Given the description of an element on the screen output the (x, y) to click on. 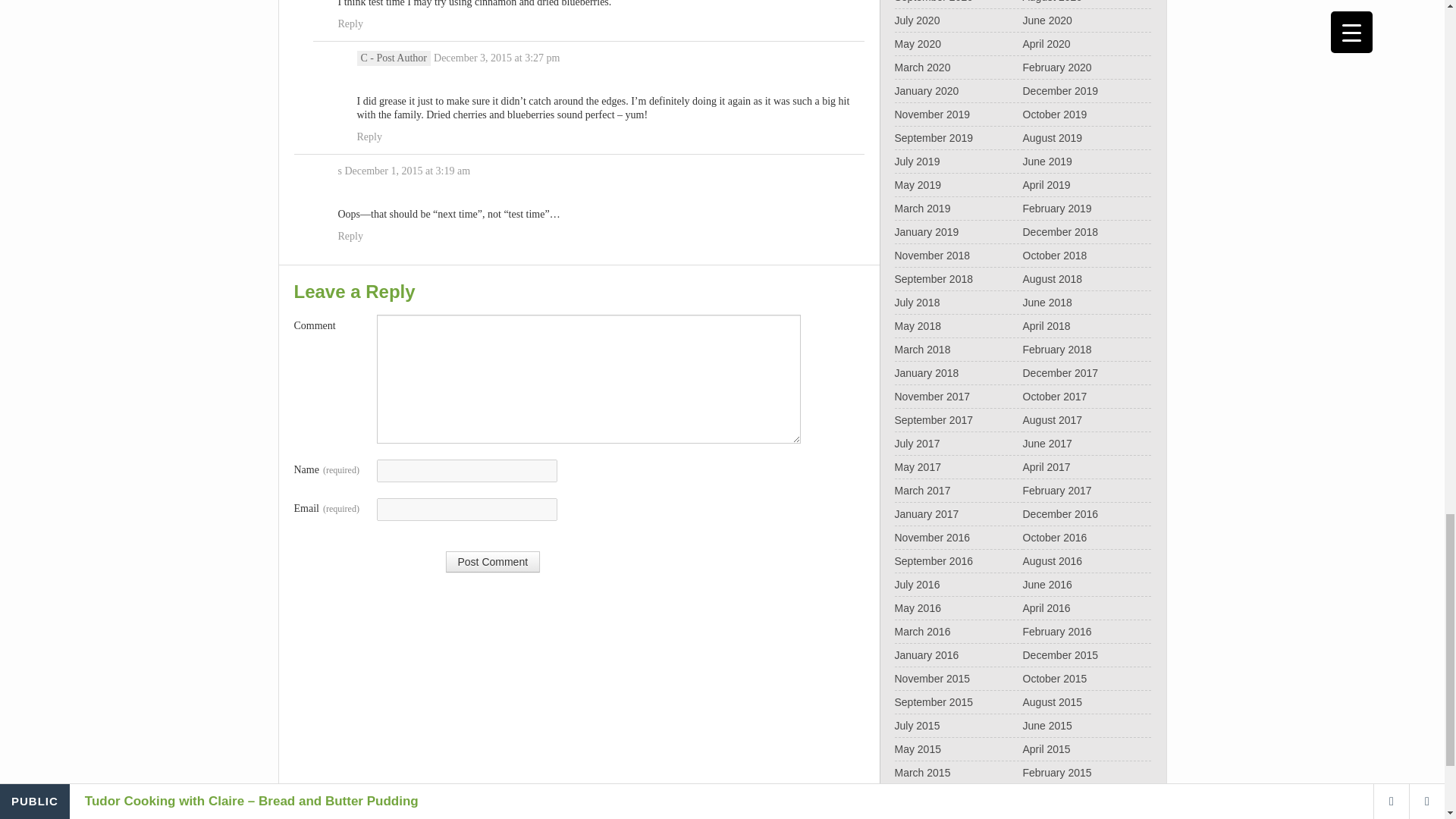
Reply (368, 136)
Post Comment (492, 561)
Reply (349, 23)
Post Comment (492, 561)
Reply (349, 236)
